Given the description of an element on the screen output the (x, y) to click on. 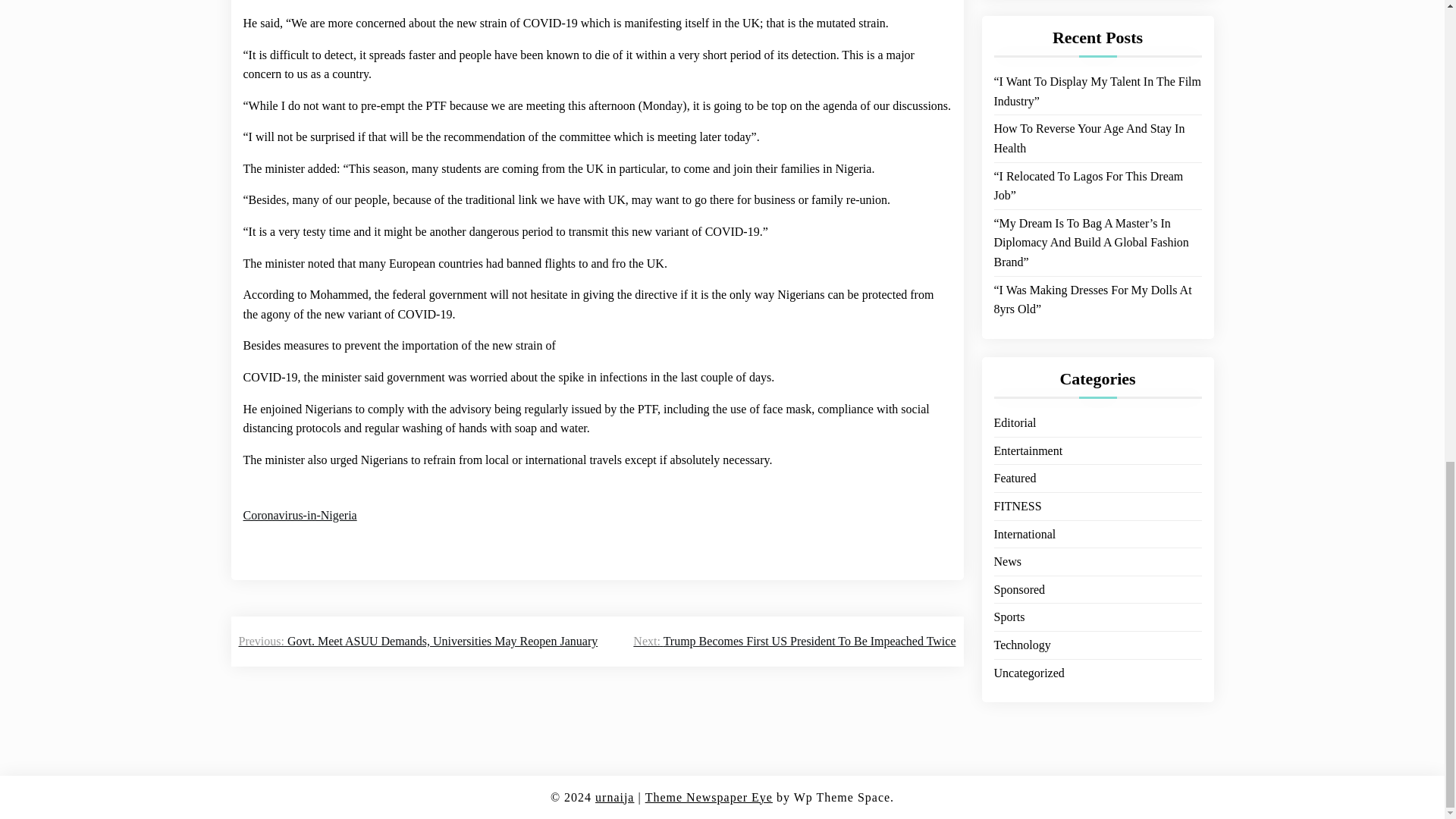
Next: Trump Becomes First US President To Be Impeached Twice (794, 641)
Editorial (1013, 7)
Coronavirus-in-Nigeria (299, 515)
